Given the description of an element on the screen output the (x, y) to click on. 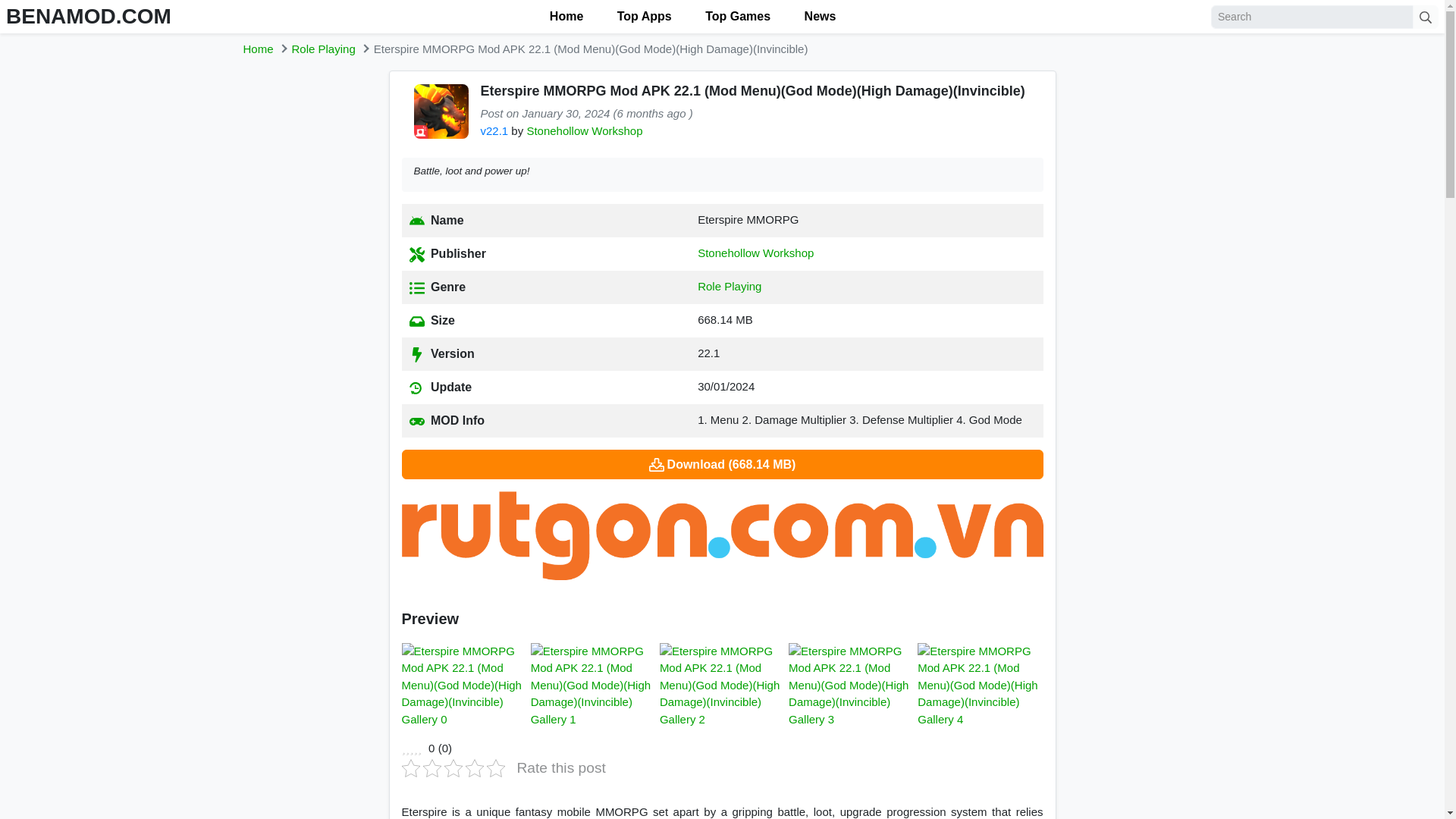
Developer by Stonehollow Workshop (583, 130)
Role Playing (729, 286)
Home (258, 48)
Developer by Stonehollow Workshop (755, 252)
Stonehollow Workshop (755, 252)
Role Playing (323, 48)
 Top Apps (641, 16)
 Home (564, 16)
Stonehollow Workshop (583, 130)
BENAMOD.COM (88, 15)
Home (258, 48)
 News (818, 16)
 Top Games (736, 16)
